Given the description of an element on the screen output the (x, y) to click on. 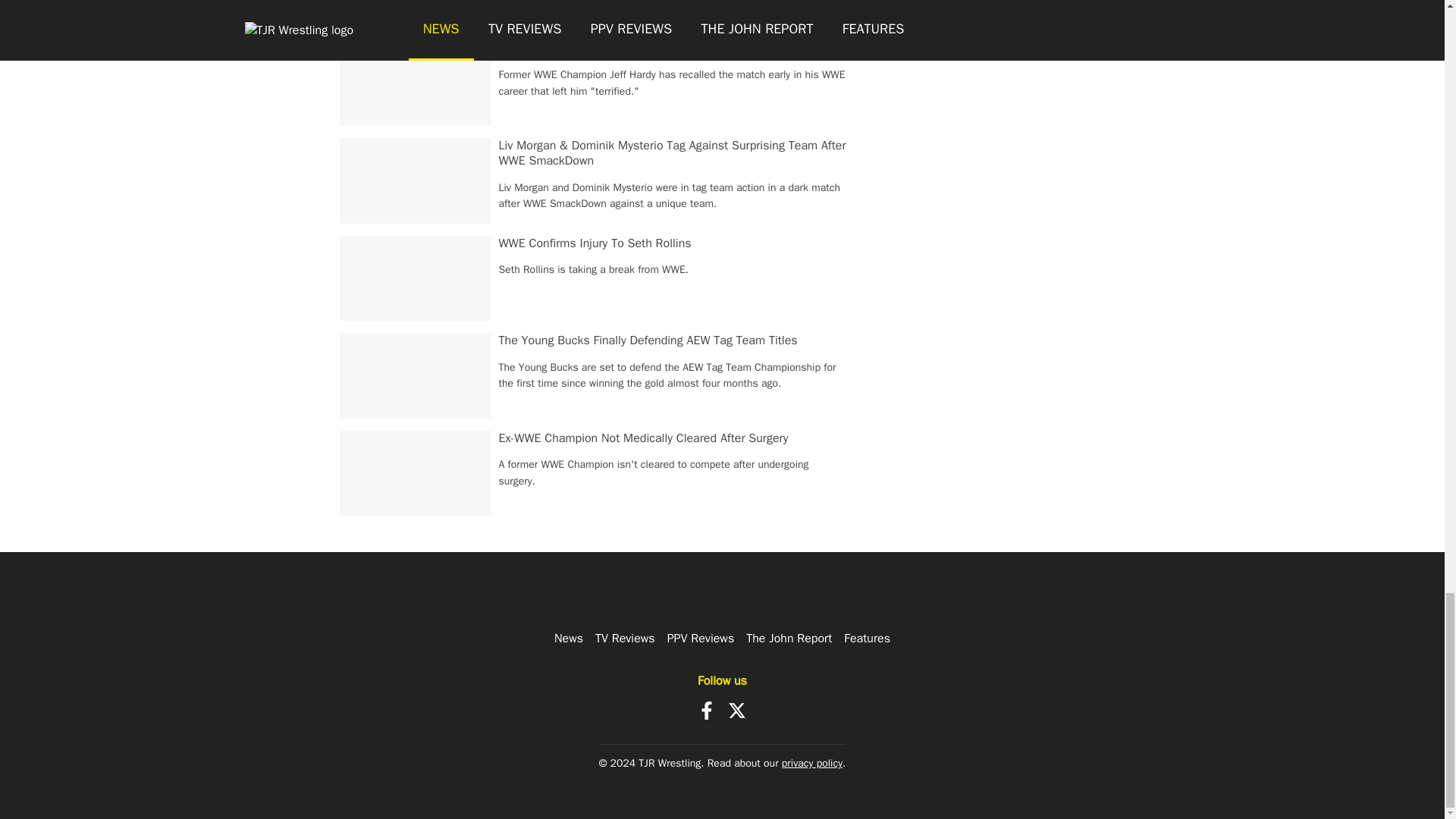
The Young Bucks Finally Defending AEW Tag Team Titles (648, 340)
WWE Confirms Injury To Seth Rollins (595, 242)
Facebook (706, 710)
X (736, 710)
